Given the description of an element on the screen output the (x, y) to click on. 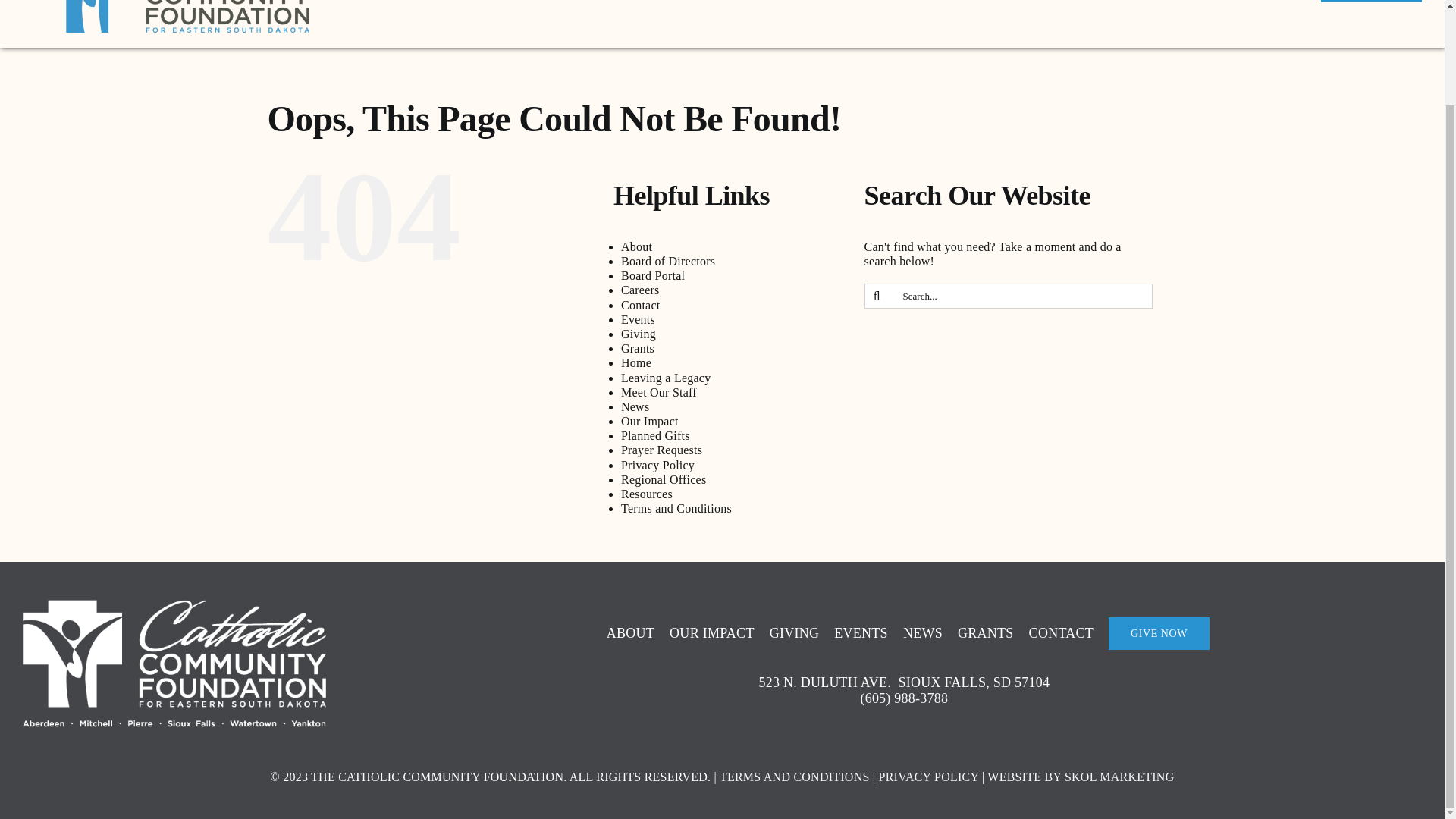
d666b15c4e192a3189f4001e0d00b23a (174, 662)
ABOUT (869, 6)
NEWS (1207, 6)
GRANTS (1274, 6)
EVENTS (1136, 6)
GIVE NOW (1371, 6)
GIVING (1053, 6)
HOME (800, 6)
OUR IMPACT (961, 6)
